Given the description of an element on the screen output the (x, y) to click on. 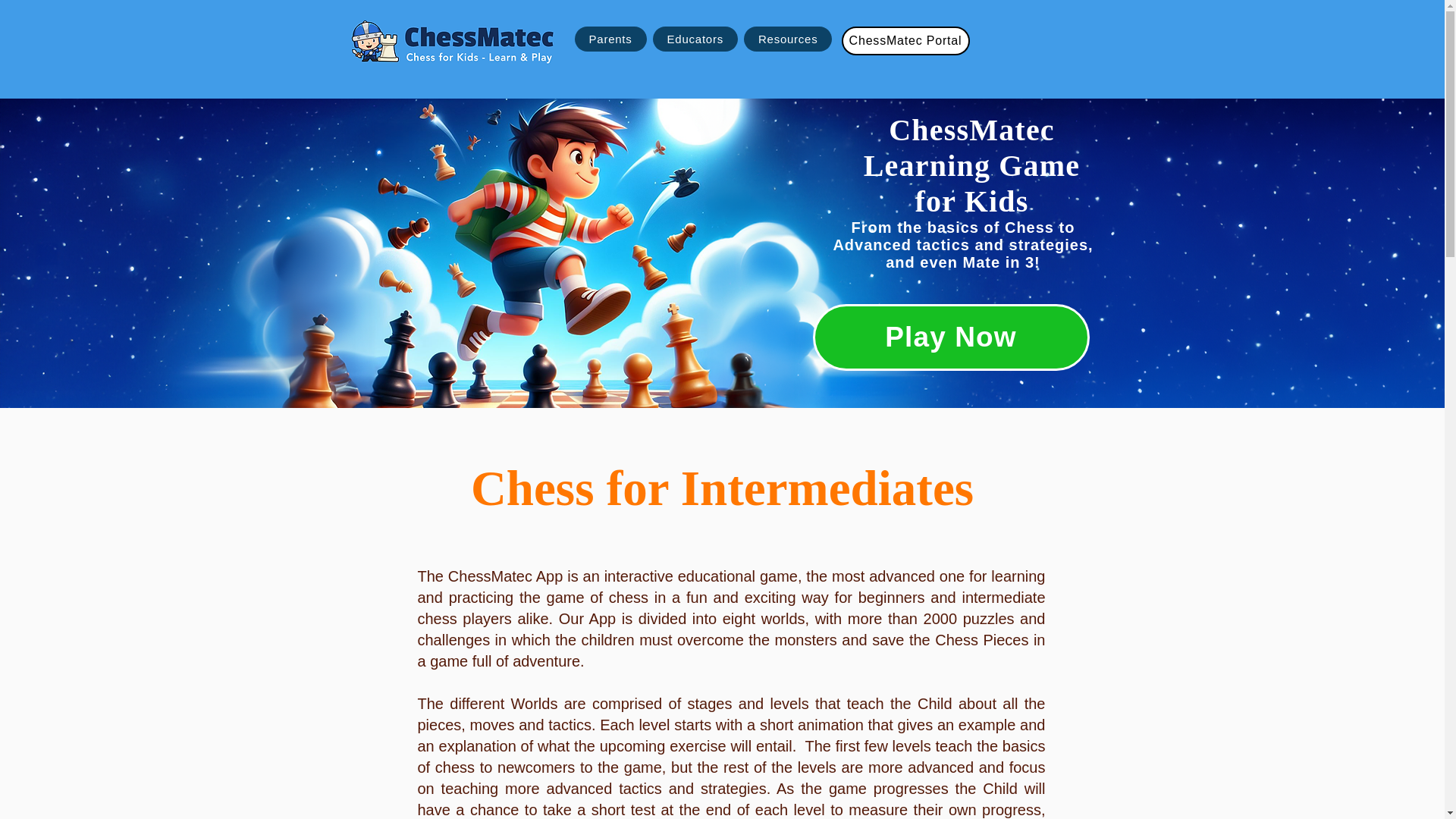
ChessMatec Portal (905, 40)
Play Now (950, 337)
